Given the description of an element on the screen output the (x, y) to click on. 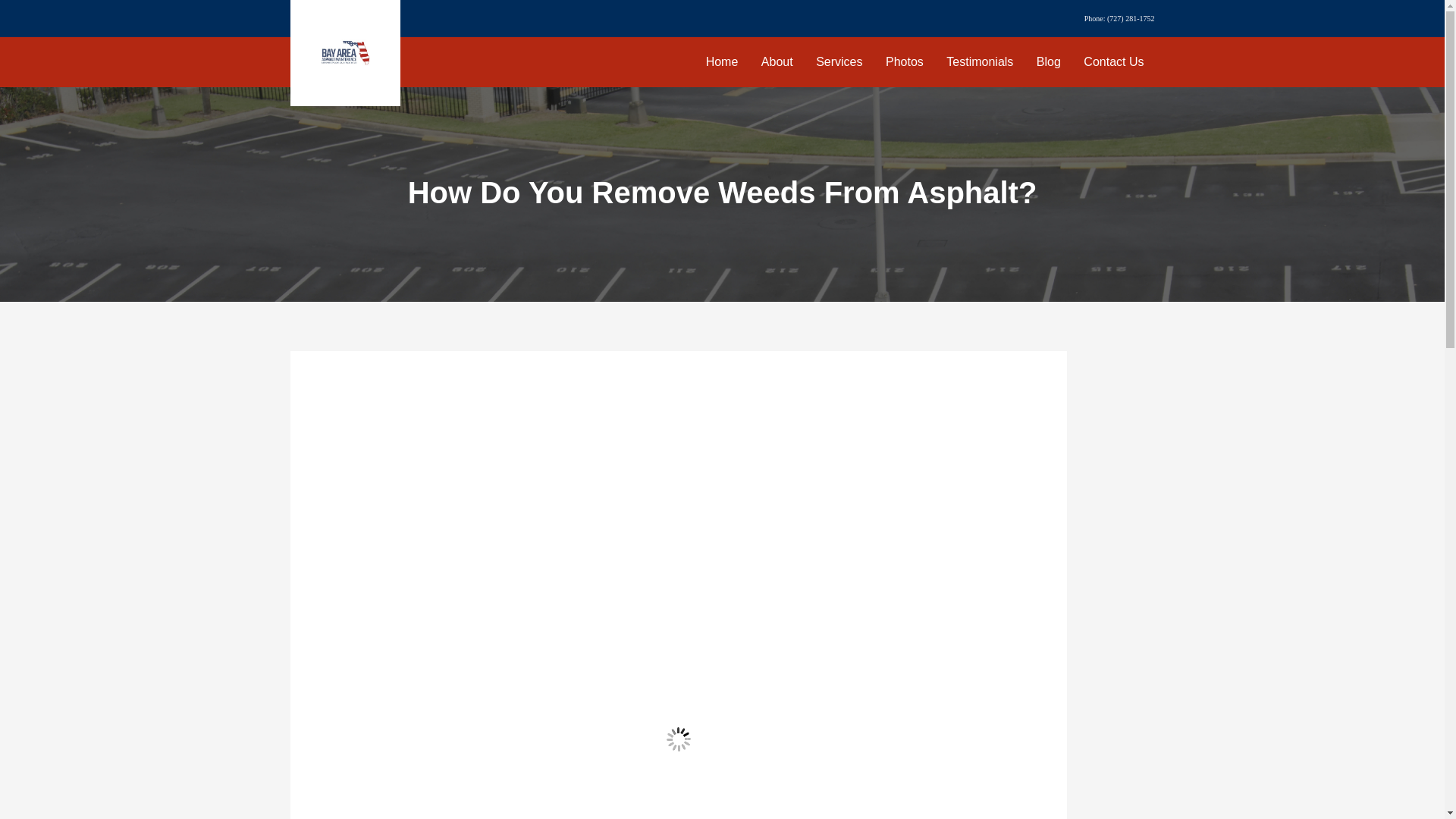
Blog (1048, 61)
Home (722, 61)
Contact Us (1113, 61)
Testimonials (979, 61)
Services (838, 61)
Photos (904, 61)
About (777, 61)
